Given the description of an element on the screen output the (x, y) to click on. 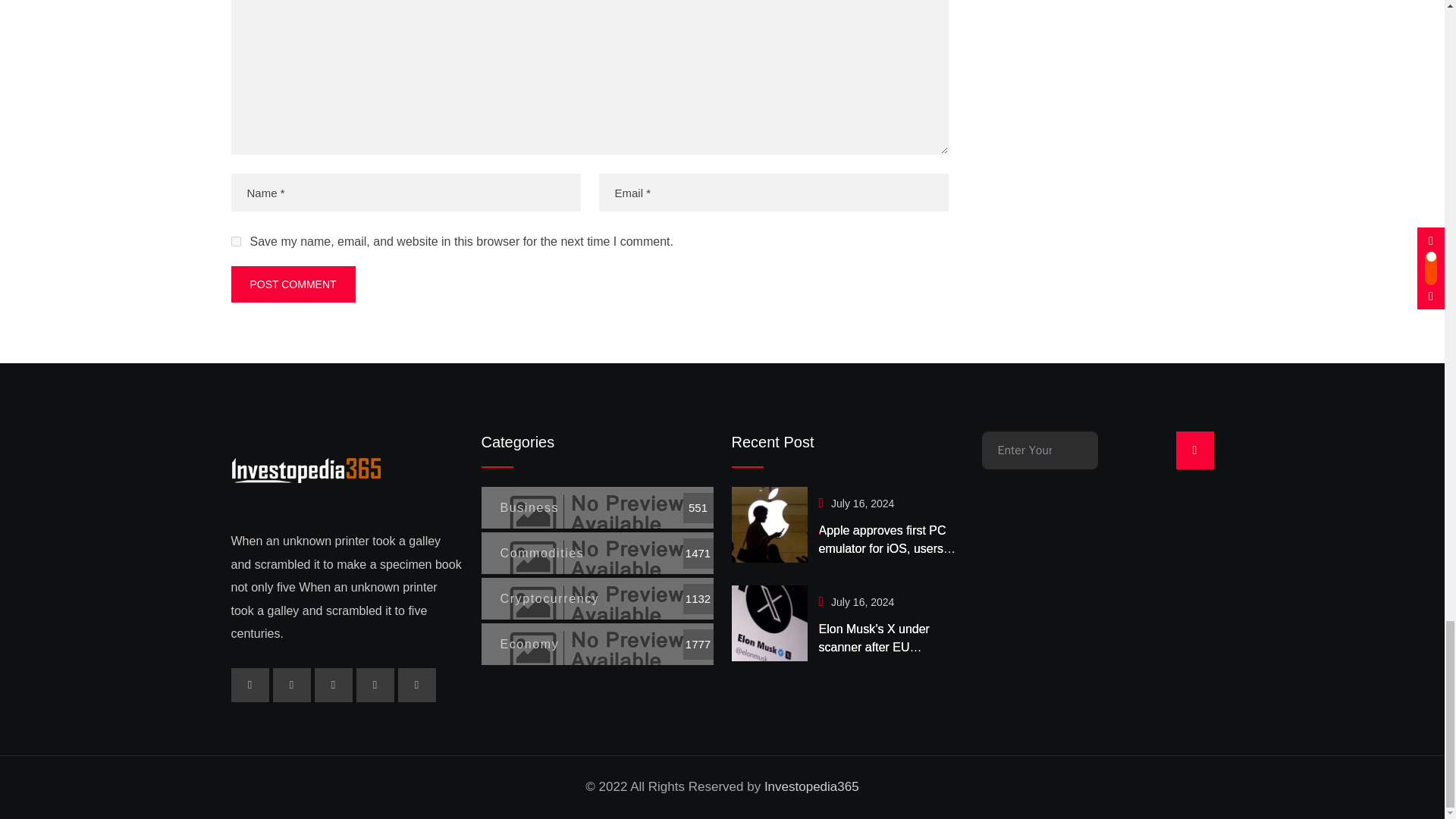
Post Comment (292, 284)
Post Comment (292, 284)
yes (235, 241)
